Given the description of an element on the screen output the (x, y) to click on. 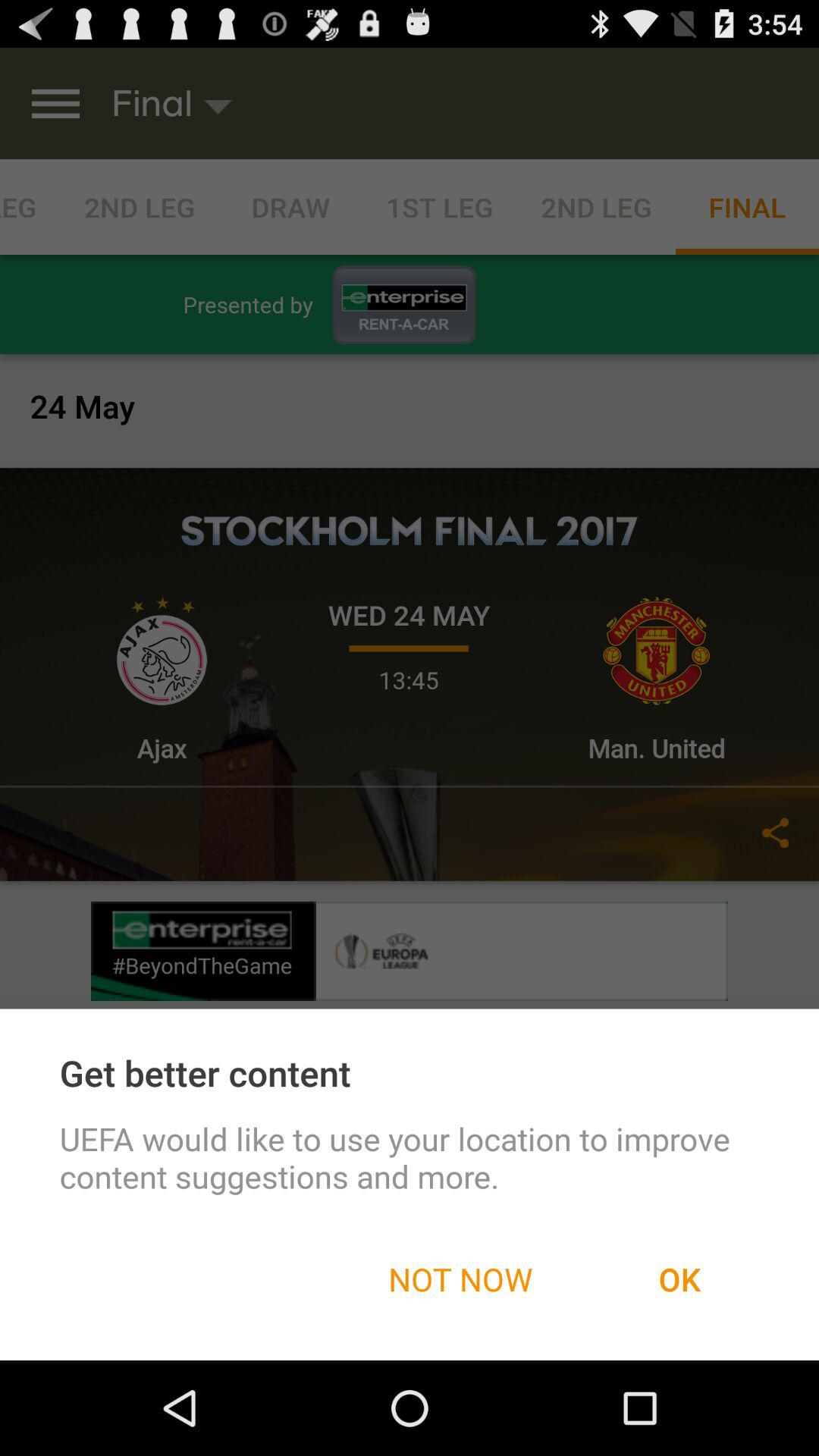
swipe until the ok item (679, 1278)
